Given the description of an element on the screen output the (x, y) to click on. 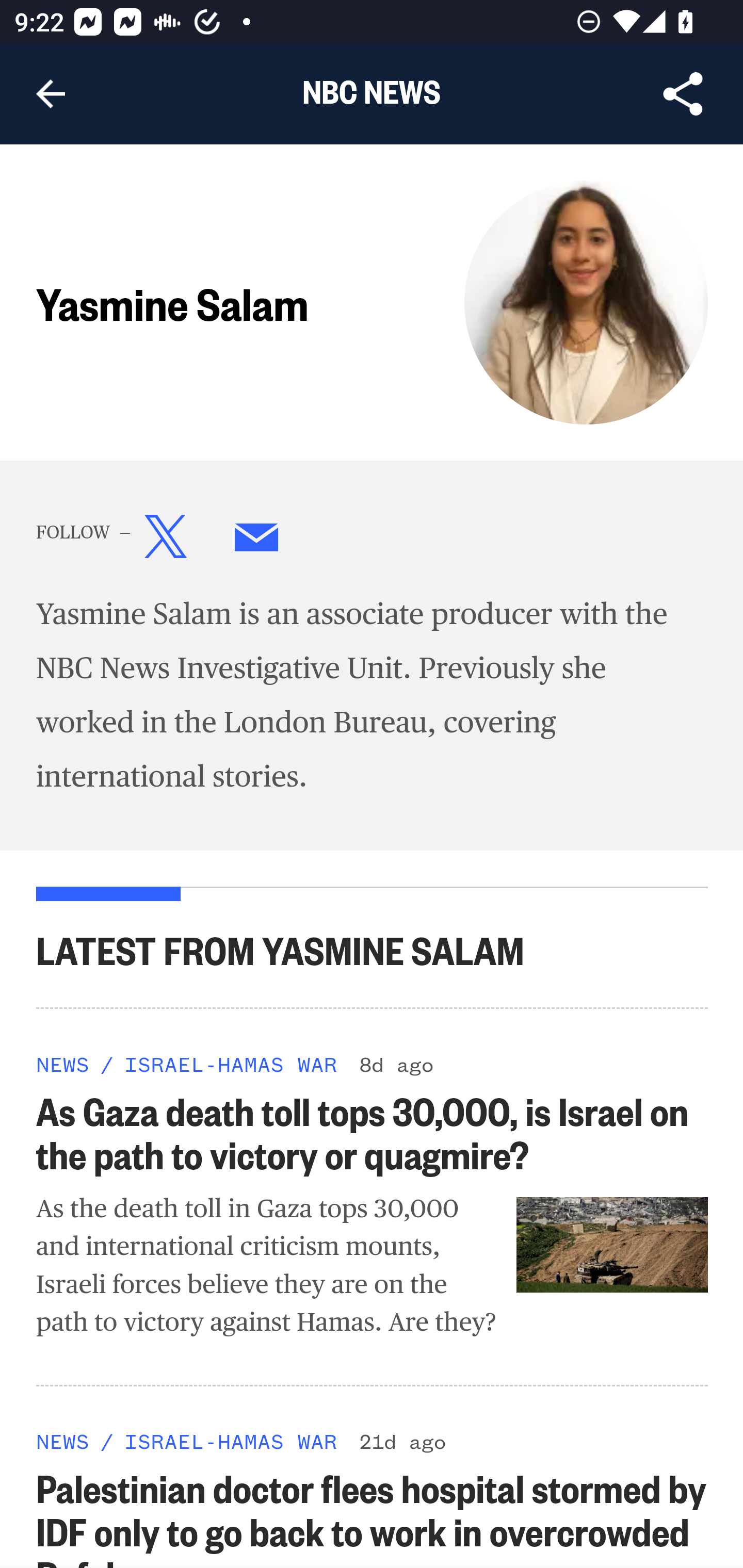
Navigate up (50, 93)
Share Article, button (683, 94)
 (165, 540)
 (256, 540)
NEWS NEWS NEWS (63, 1062)
ISRAEL-HAMAS WAR ISRAEL-HAMAS WAR ISRAEL-HAMAS WAR (229, 1062)
NEWS NEWS NEWS (63, 1441)
ISRAEL-HAMAS WAR ISRAEL-HAMAS WAR ISRAEL-HAMAS WAR (229, 1441)
